Given the description of an element on the screen output the (x, y) to click on. 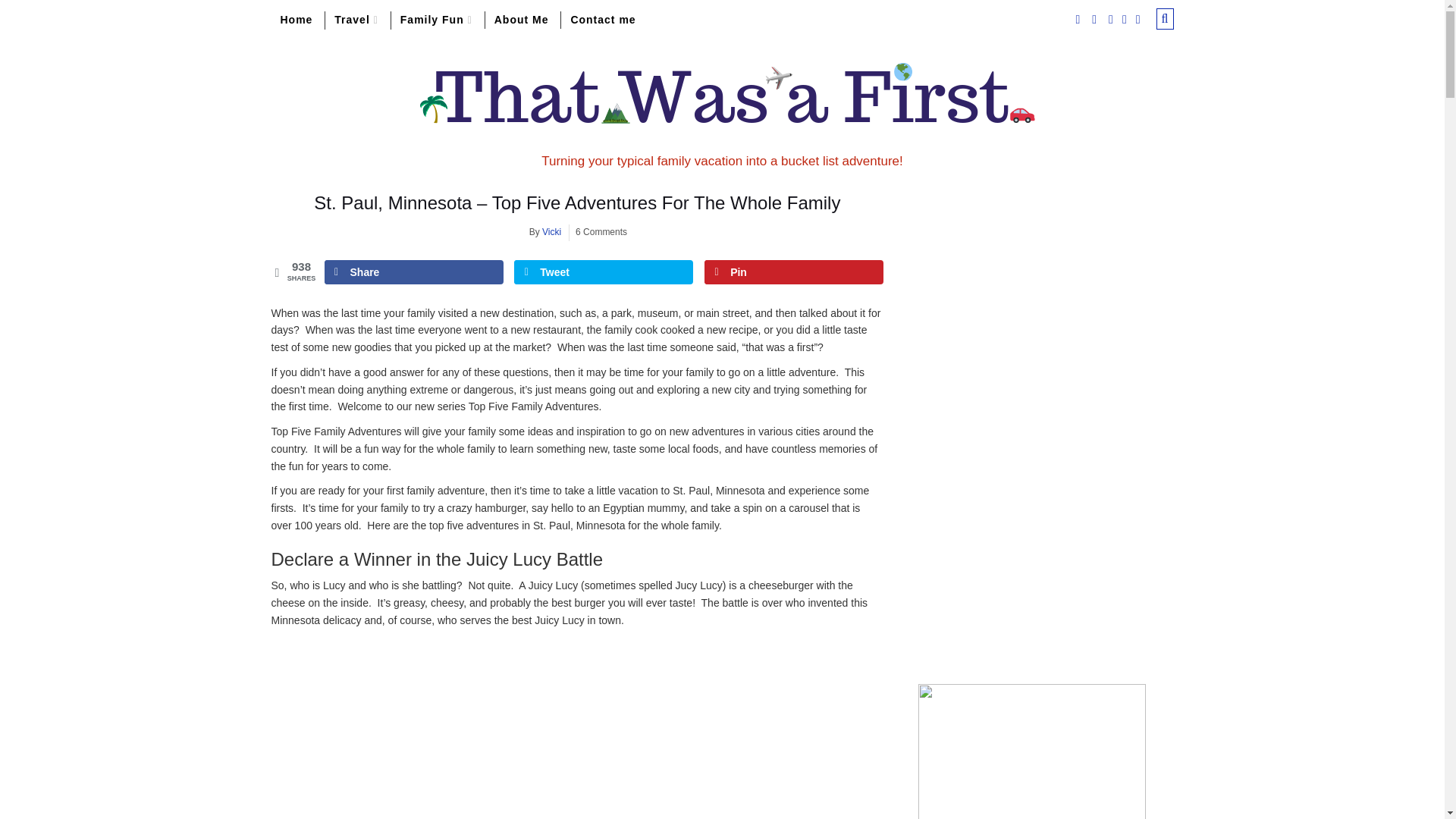
Family Fun (436, 20)
Tweet (603, 272)
Contact me (602, 19)
Posts by Vicki (550, 231)
Vicki (550, 231)
About Me (520, 19)
Share (413, 272)
Pin (793, 272)
Home (295, 19)
Travel (355, 20)
